Given the description of an element on the screen output the (x, y) to click on. 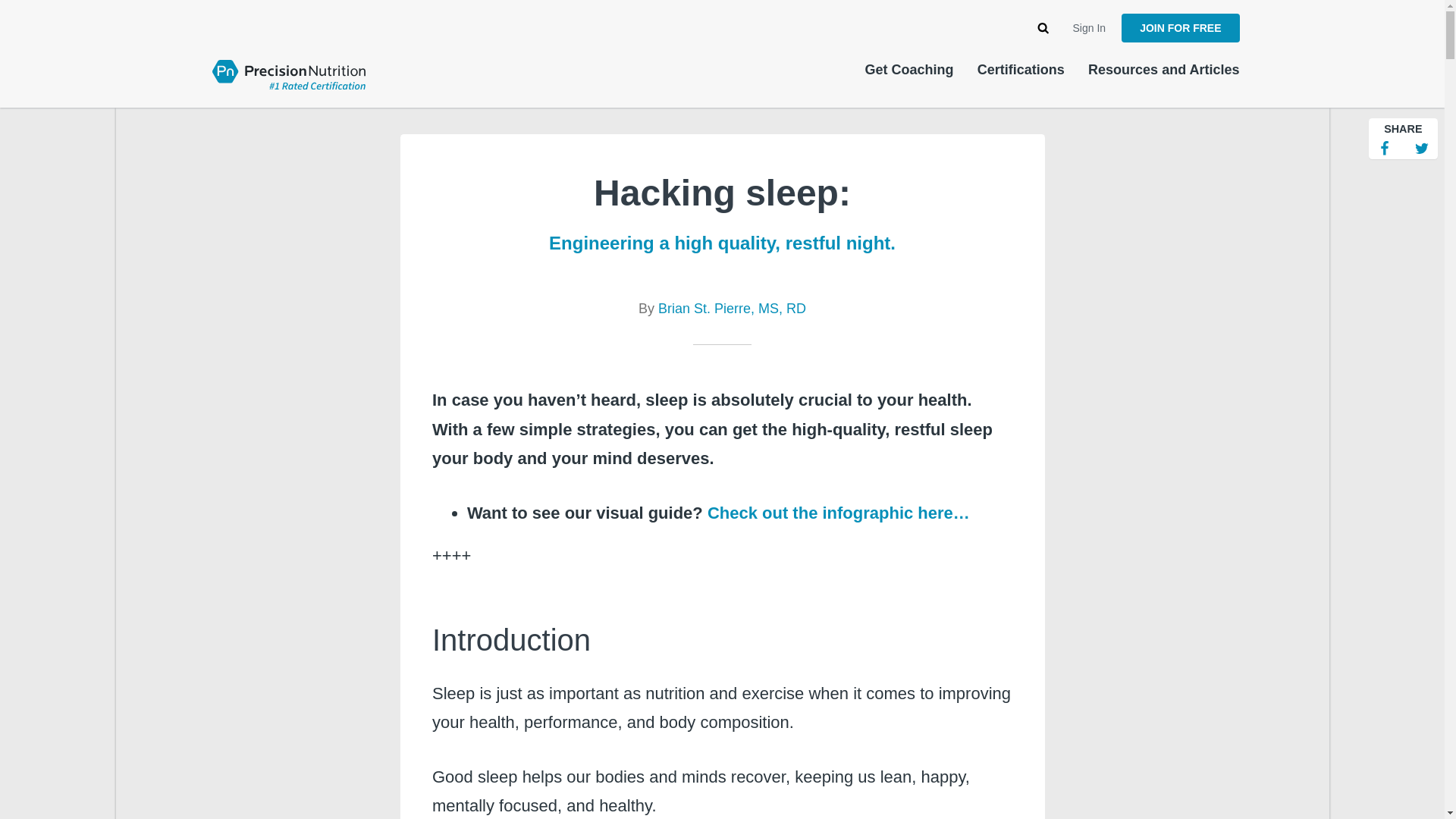
Get Coaching (908, 69)
Resources and Articles (1163, 69)
Go to homepage (288, 73)
Certifications (1020, 69)
JOIN FOR FREE (1180, 27)
Sign In (1089, 28)
